Given the description of an element on the screen output the (x, y) to click on. 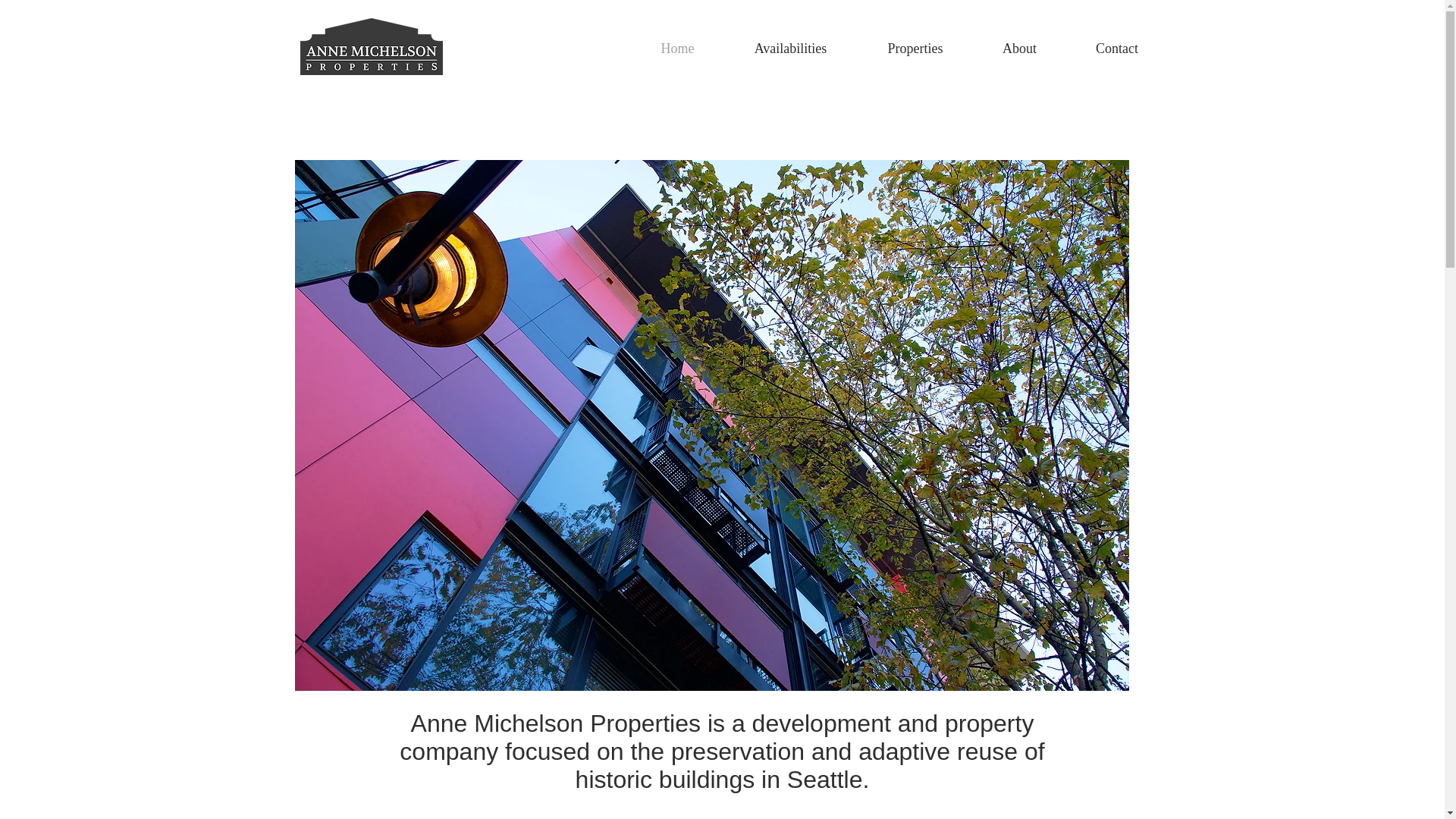
Contact (1117, 48)
Availabilities (790, 48)
Properties (914, 48)
About (1019, 48)
Home (676, 48)
